Given the description of an element on the screen output the (x, y) to click on. 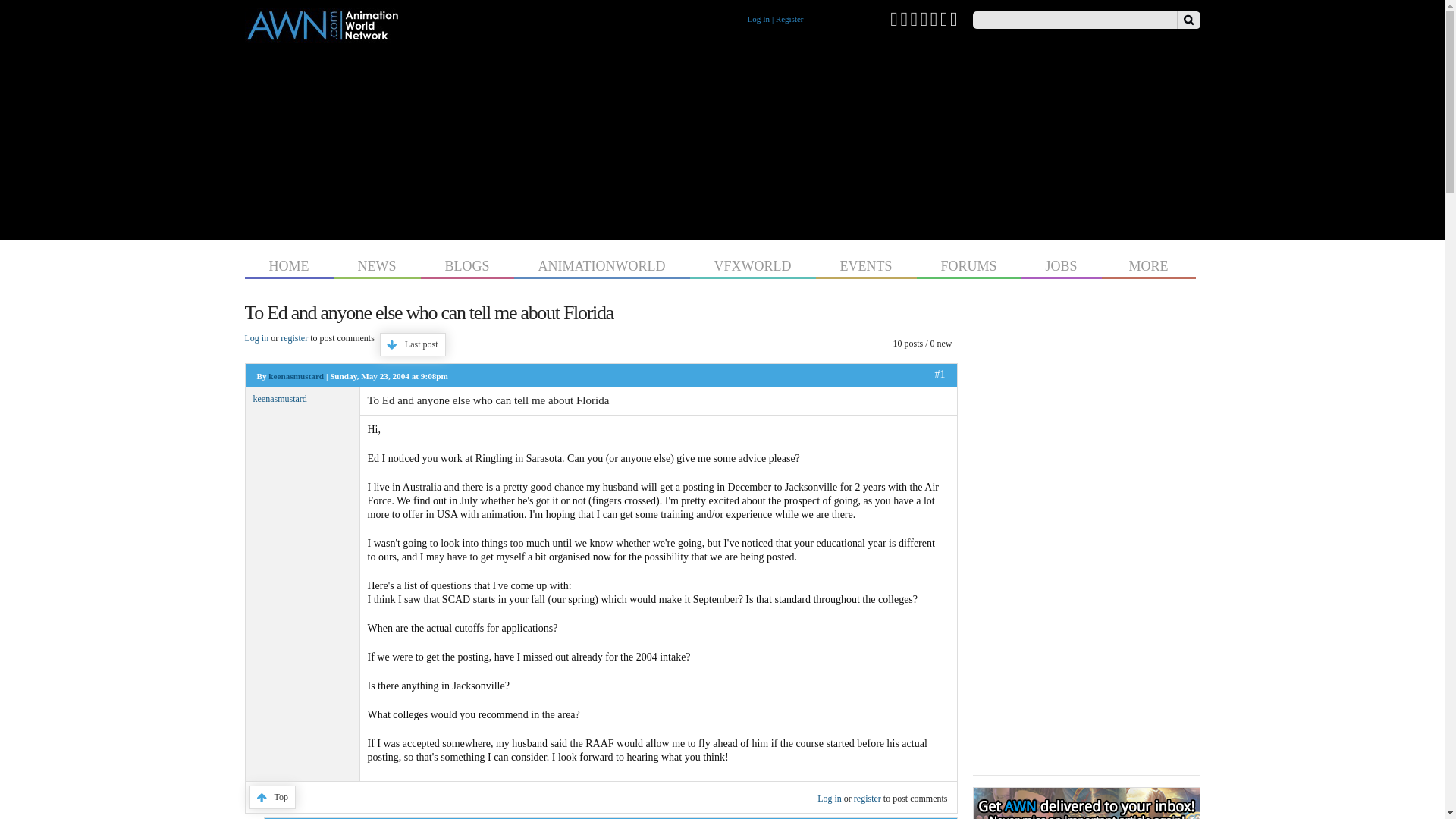
Last post (412, 344)
Skip to main content (693, 1)
Search (1187, 19)
Register (789, 18)
keenasmustard (280, 398)
3rd party ad content (722, 137)
HOME (288, 263)
keenasmustard (295, 375)
MORE (1148, 263)
Animation World Network (321, 35)
BLOGS (466, 263)
VFXWORLD (752, 263)
Search (1187, 19)
register (294, 337)
JOBS (1062, 263)
